Given the description of an element on the screen output the (x, y) to click on. 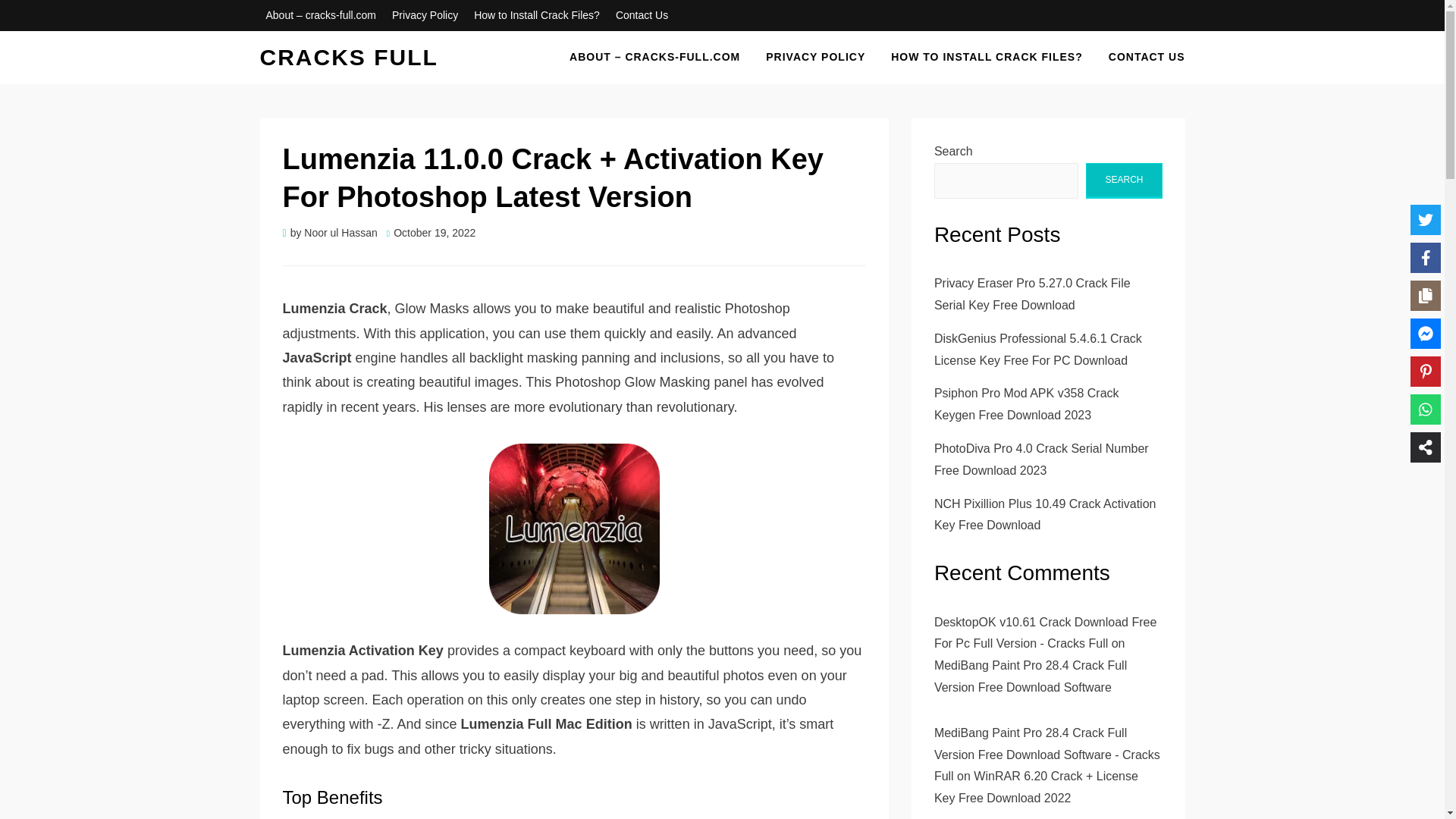
CONTACT US (1140, 56)
How to Install Crack Files? (536, 15)
Noor ul Hassan (340, 232)
Privacy Policy (424, 15)
PRIVACY POLICY (814, 56)
October 19, 2022 (431, 232)
Contact Us (642, 15)
Psiphon Pro Mod APK v358 Crack Keygen Free Download 2023 (1026, 403)
CRACKS FULL (348, 57)
NCH Pixillion Plus 10.49 Crack Activation Key Free Download (1045, 514)
Cracks Full (348, 57)
